Given the description of an element on the screen output the (x, y) to click on. 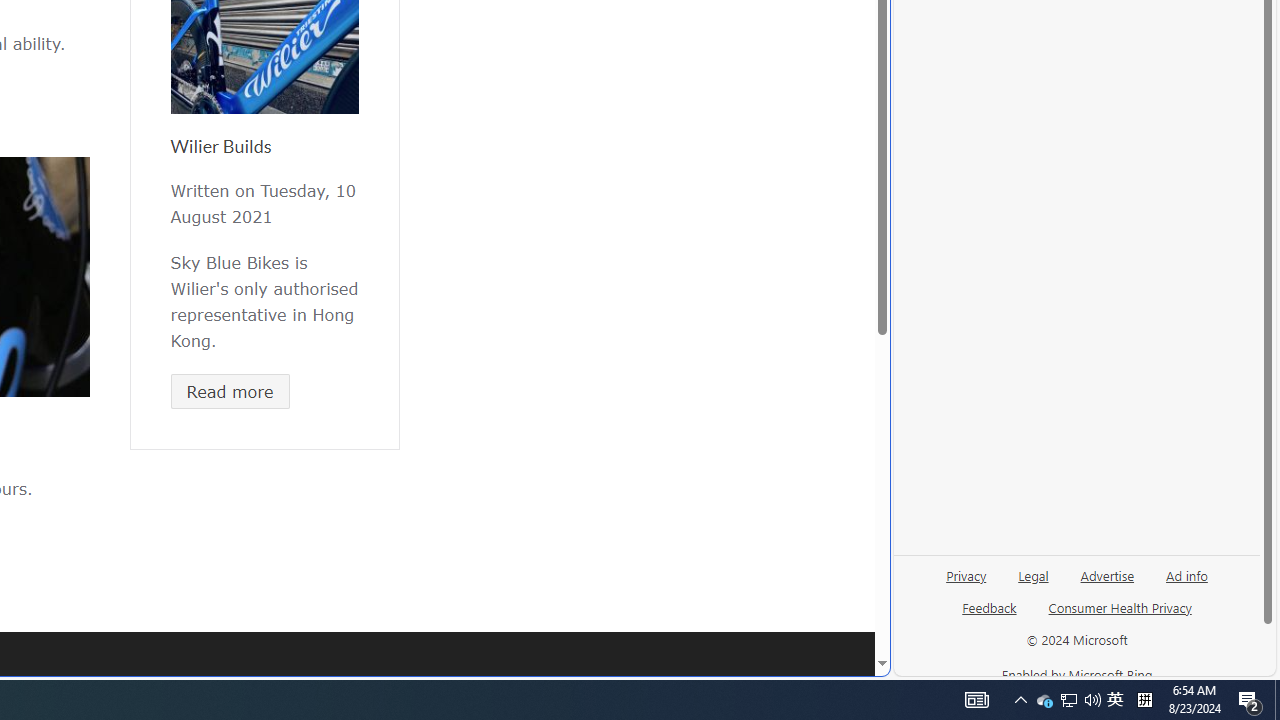
Wilier Builds (220, 146)
